Given the description of an element on the screen output the (x, y) to click on. 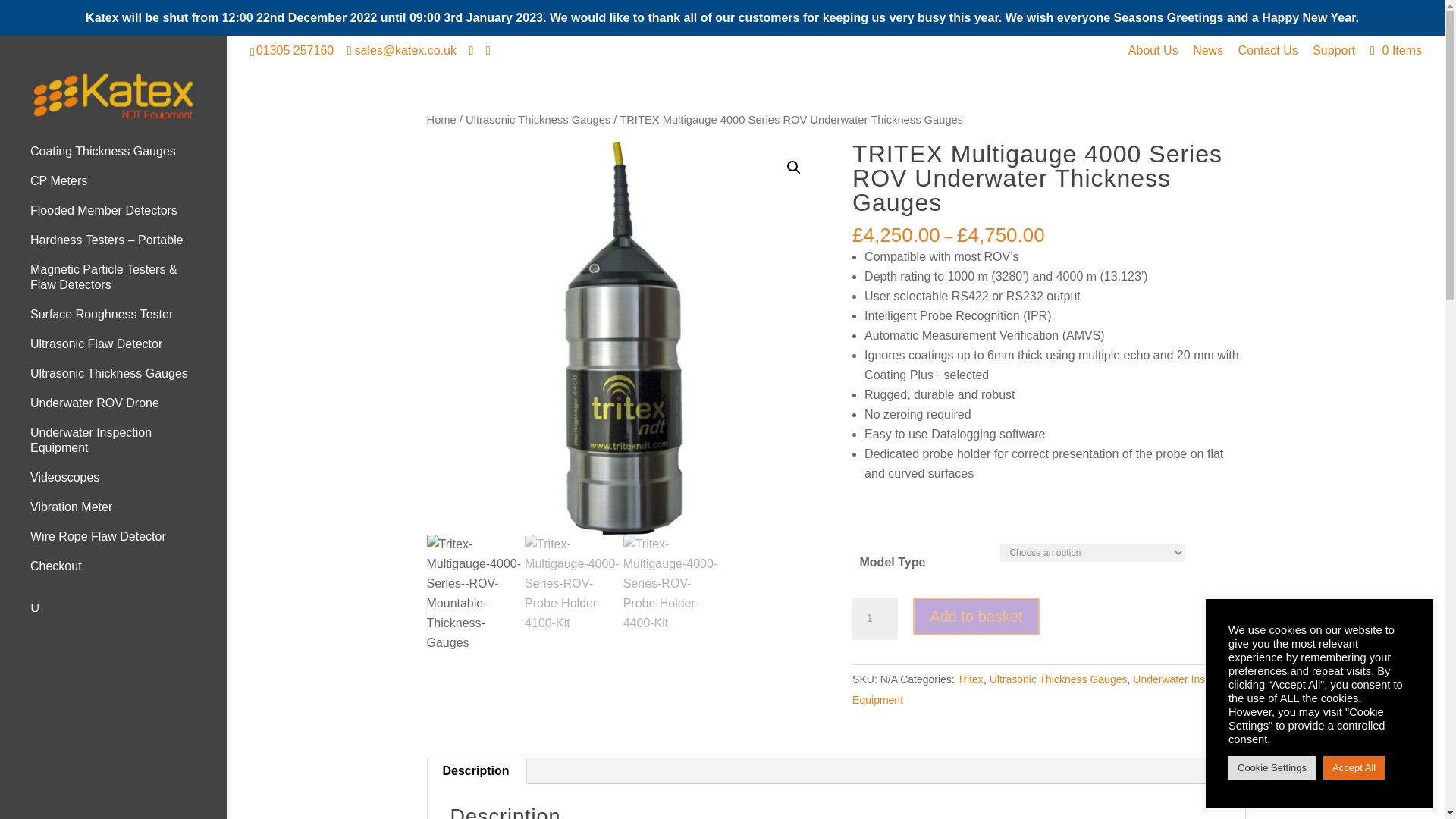
1 (874, 618)
News (1207, 55)
Coating Thickness Gauges (128, 158)
Underwater Inspection Equipment (128, 447)
0 Items (1394, 50)
CP Meters (128, 188)
Contact Us (1268, 55)
Checkout (128, 573)
Wire Rope Flaw Detector (128, 543)
